Given the description of an element on the screen output the (x, y) to click on. 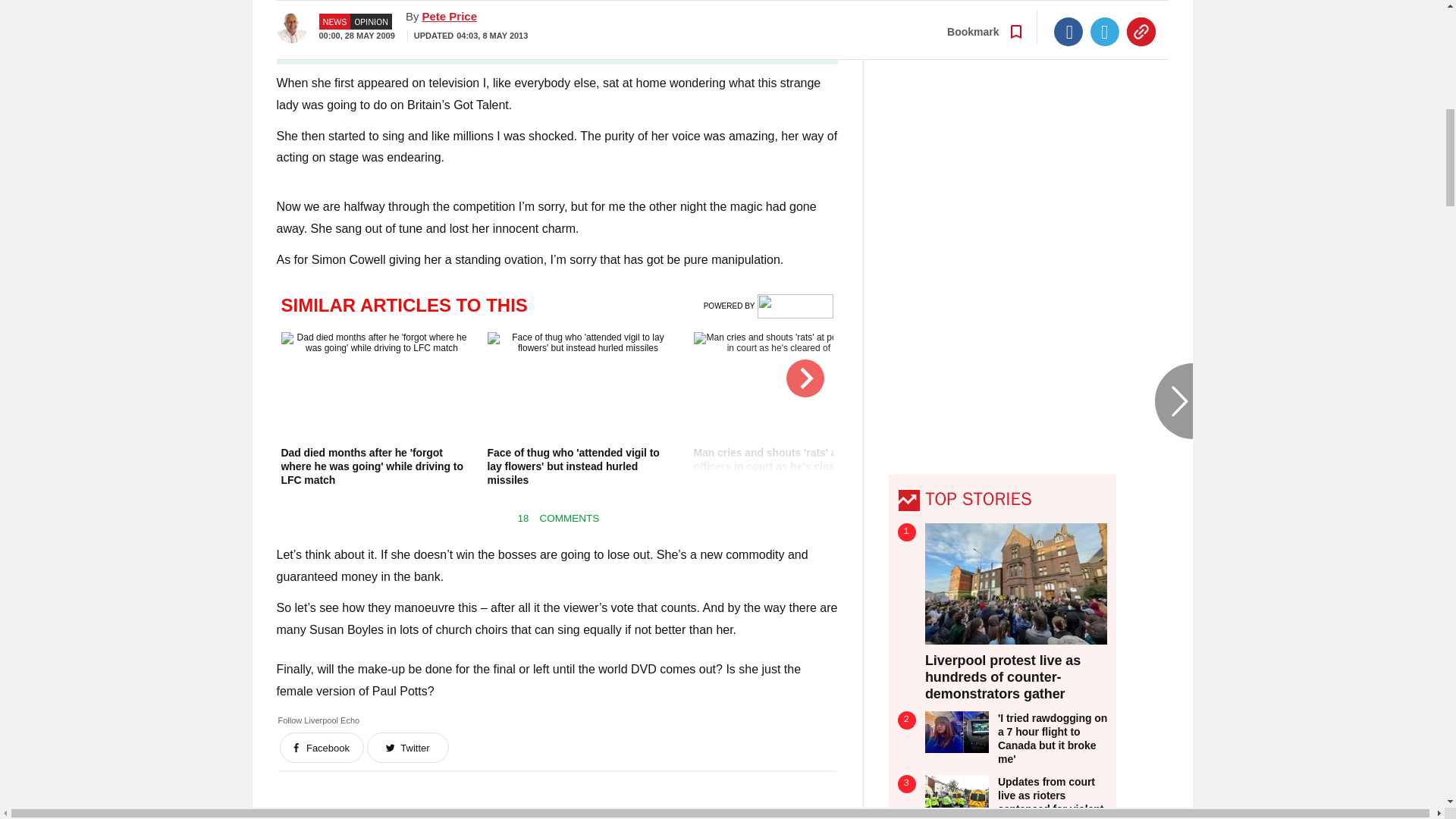
Go (730, 38)
